Given the description of an element on the screen output the (x, y) to click on. 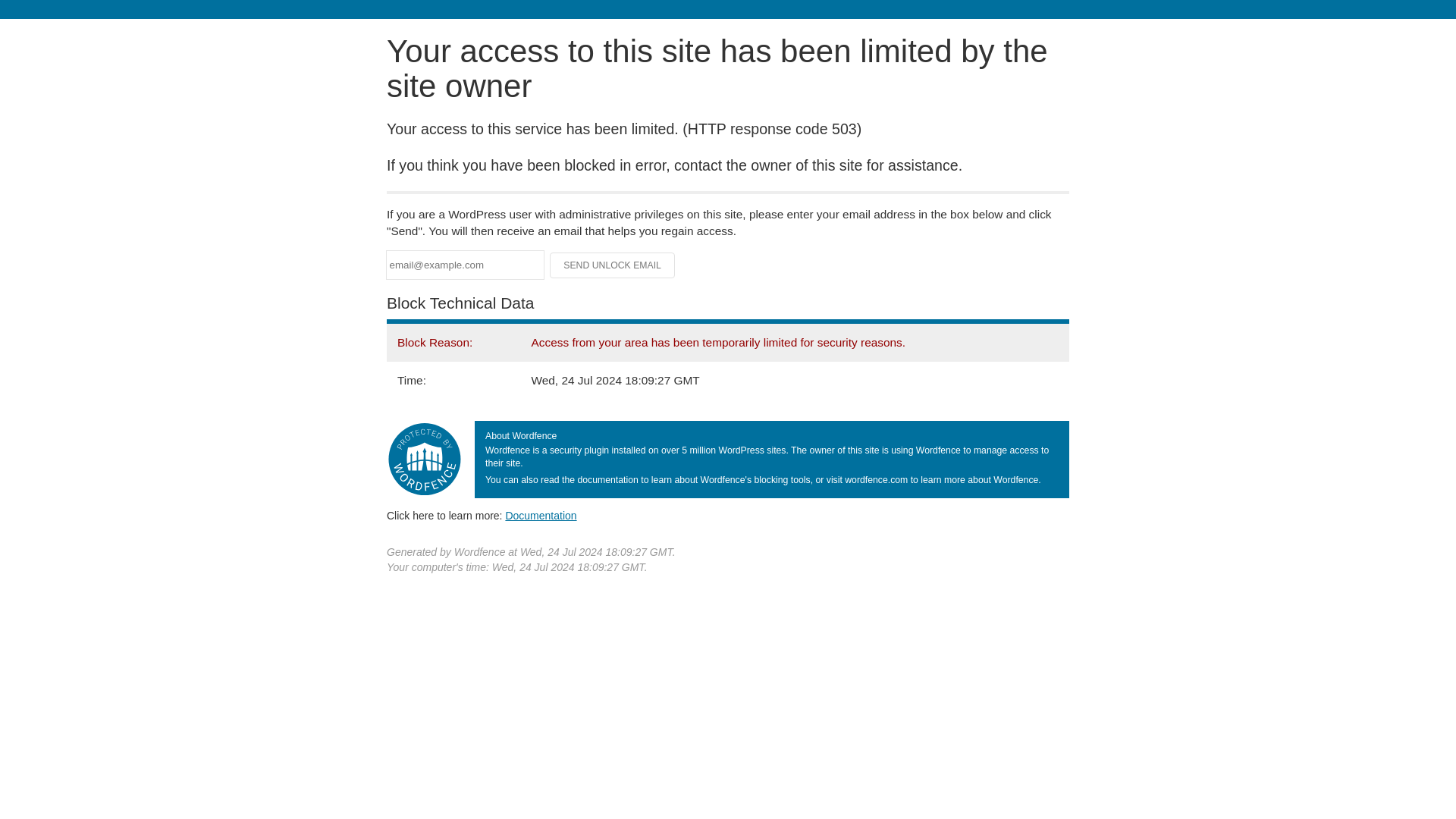
Send Unlock Email (612, 265)
Send Unlock Email (612, 265)
Documentation (540, 515)
